Given the description of an element on the screen output the (x, y) to click on. 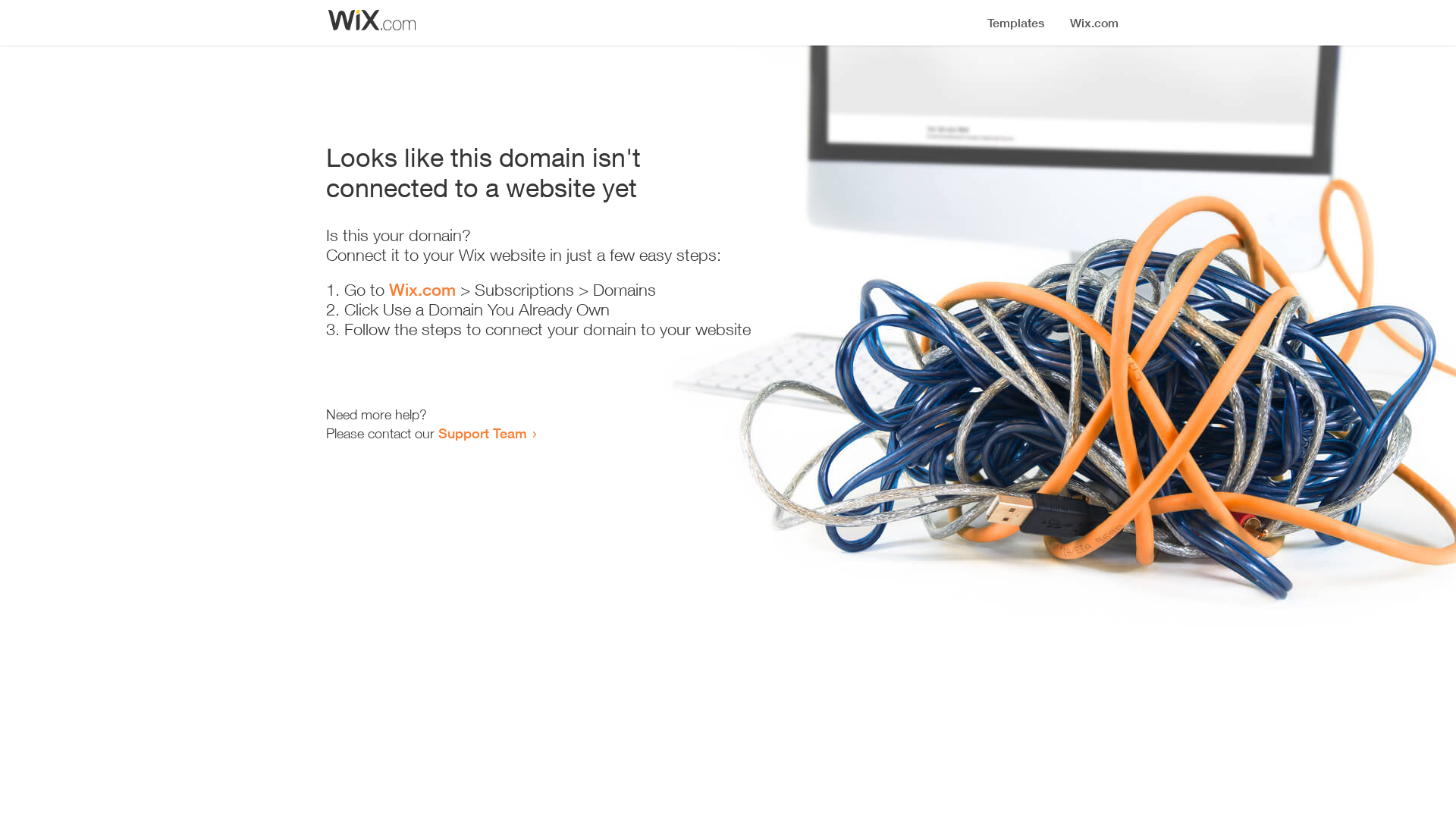
Wix.com Element type: text (422, 289)
Support Team Element type: text (482, 432)
